Given the description of an element on the screen output the (x, y) to click on. 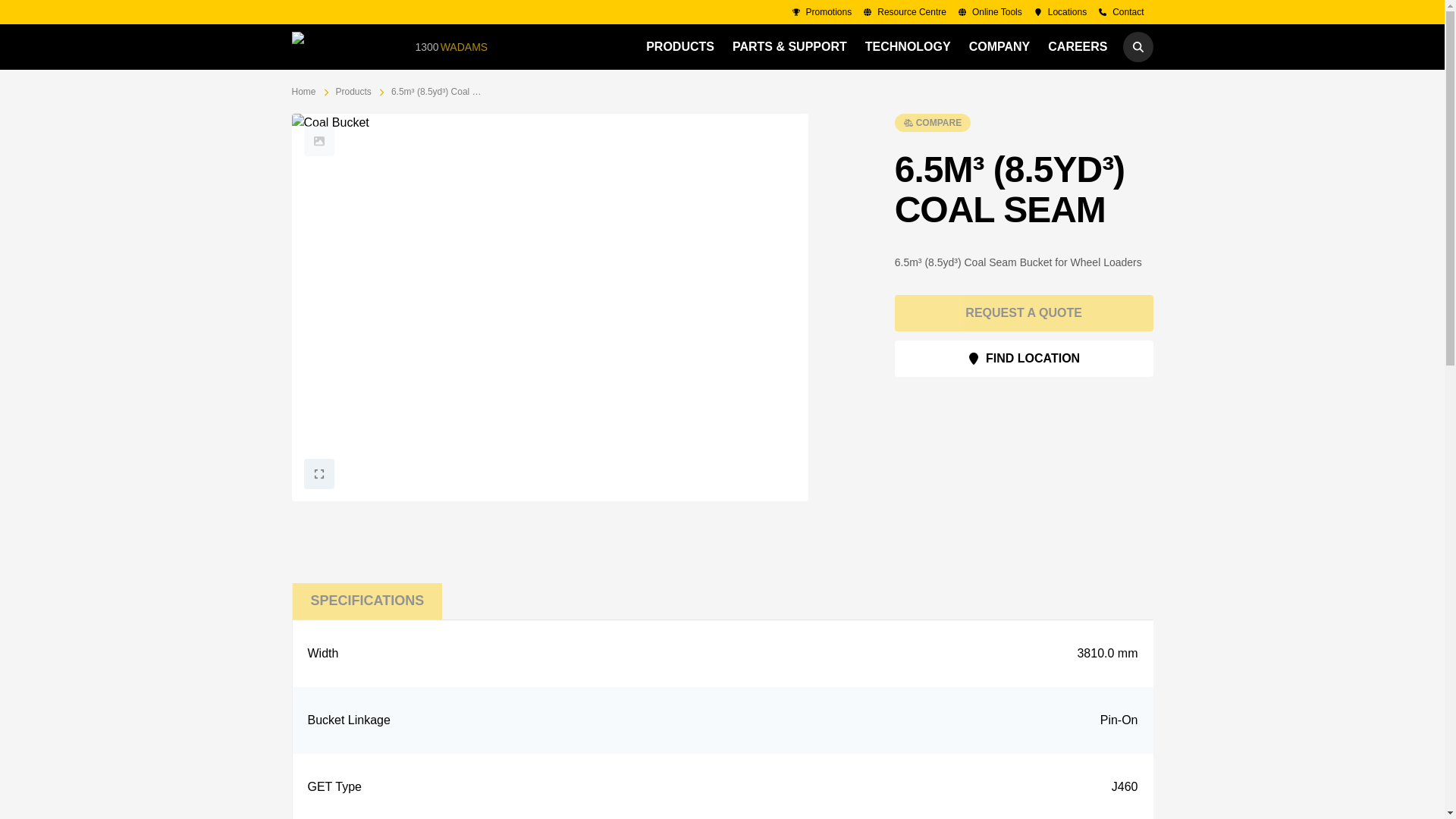
Promotions (822, 12)
Online Tools (990, 12)
Resource Centre (455, 47)
Contact (904, 12)
TECHNOLOGY (1121, 12)
Locations (907, 46)
PRODUCTS (1059, 12)
